Given the description of an element on the screen output the (x, y) to click on. 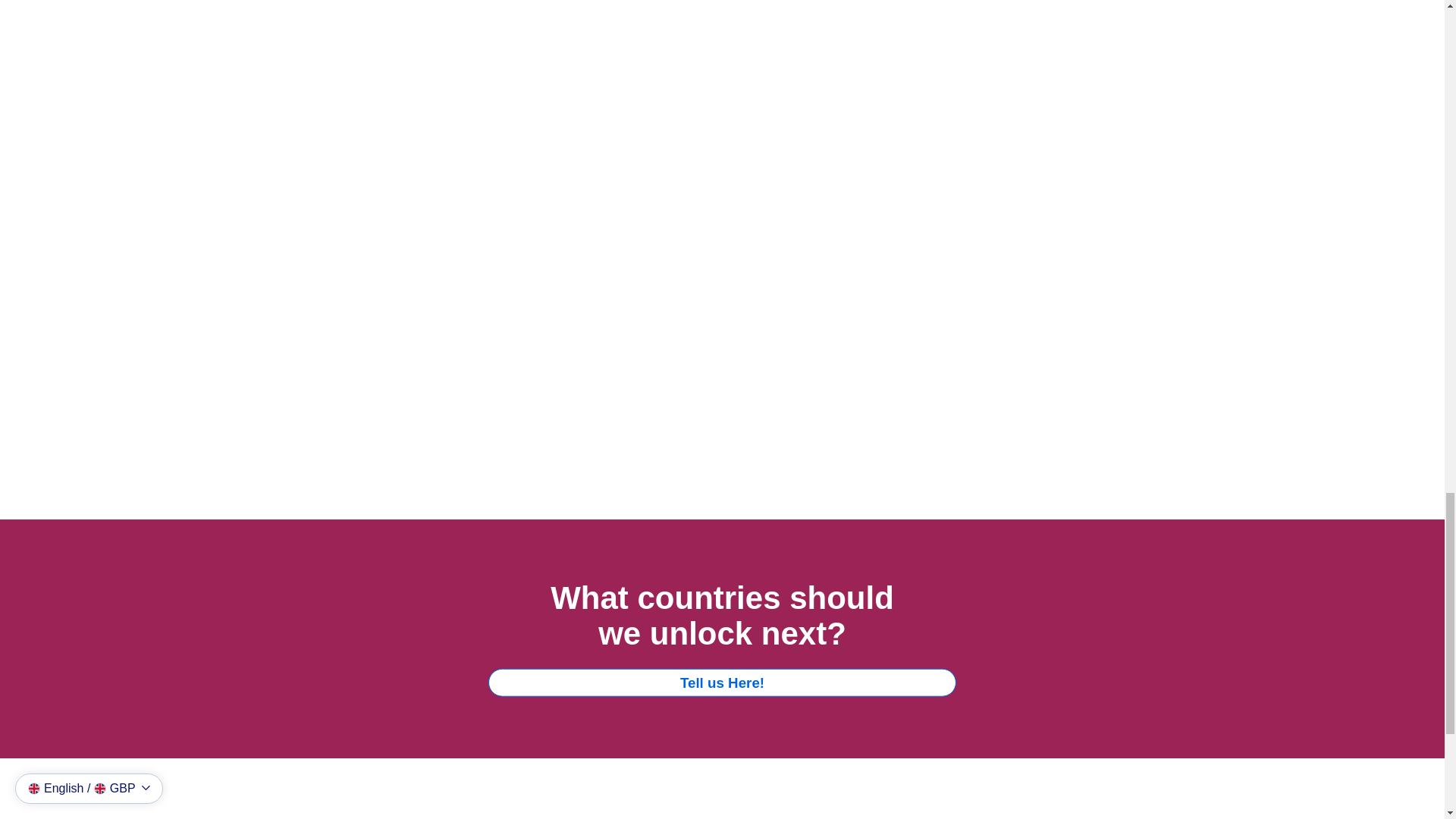
Tell us Here! (721, 682)
